Given the description of an element on the screen output the (x, y) to click on. 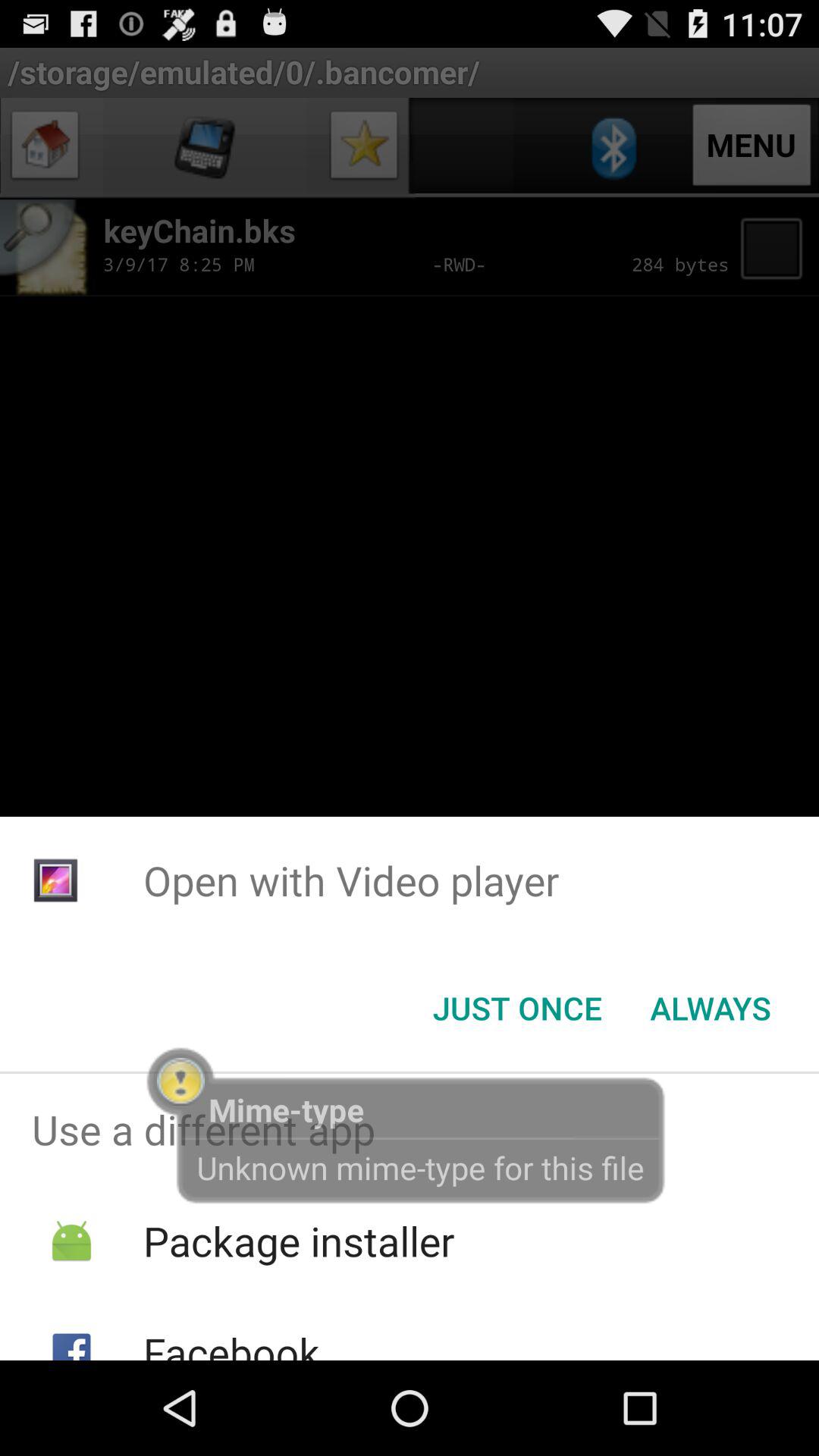
click item below package installer app (231, 1342)
